Given the description of an element on the screen output the (x, y) to click on. 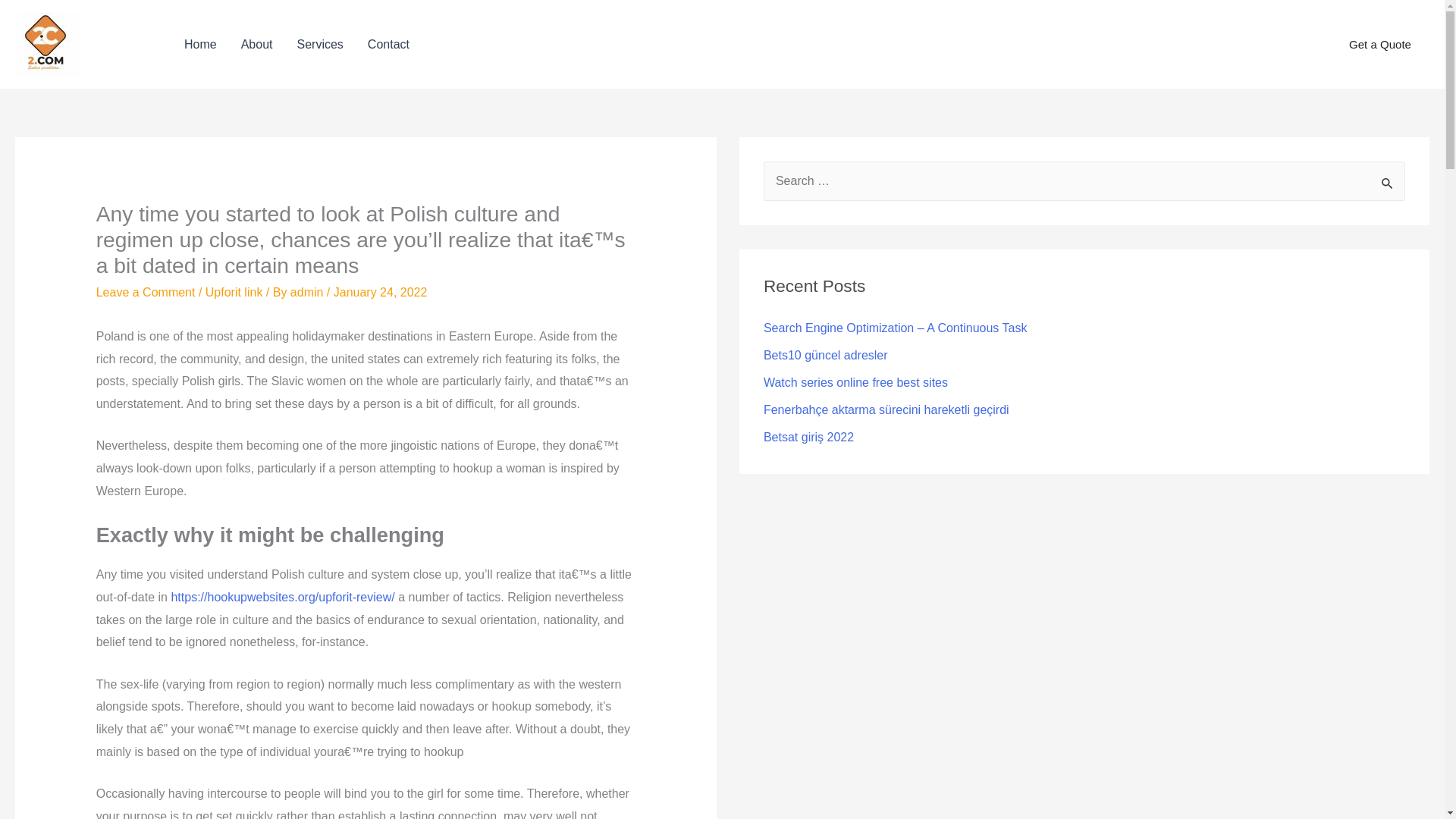
View all posts by admin (307, 291)
admin (307, 291)
Leave a Comment (145, 291)
Get a Quote (1379, 44)
Watch series online free best sites (854, 382)
Upforit link (234, 291)
